Given the description of an element on the screen output the (x, y) to click on. 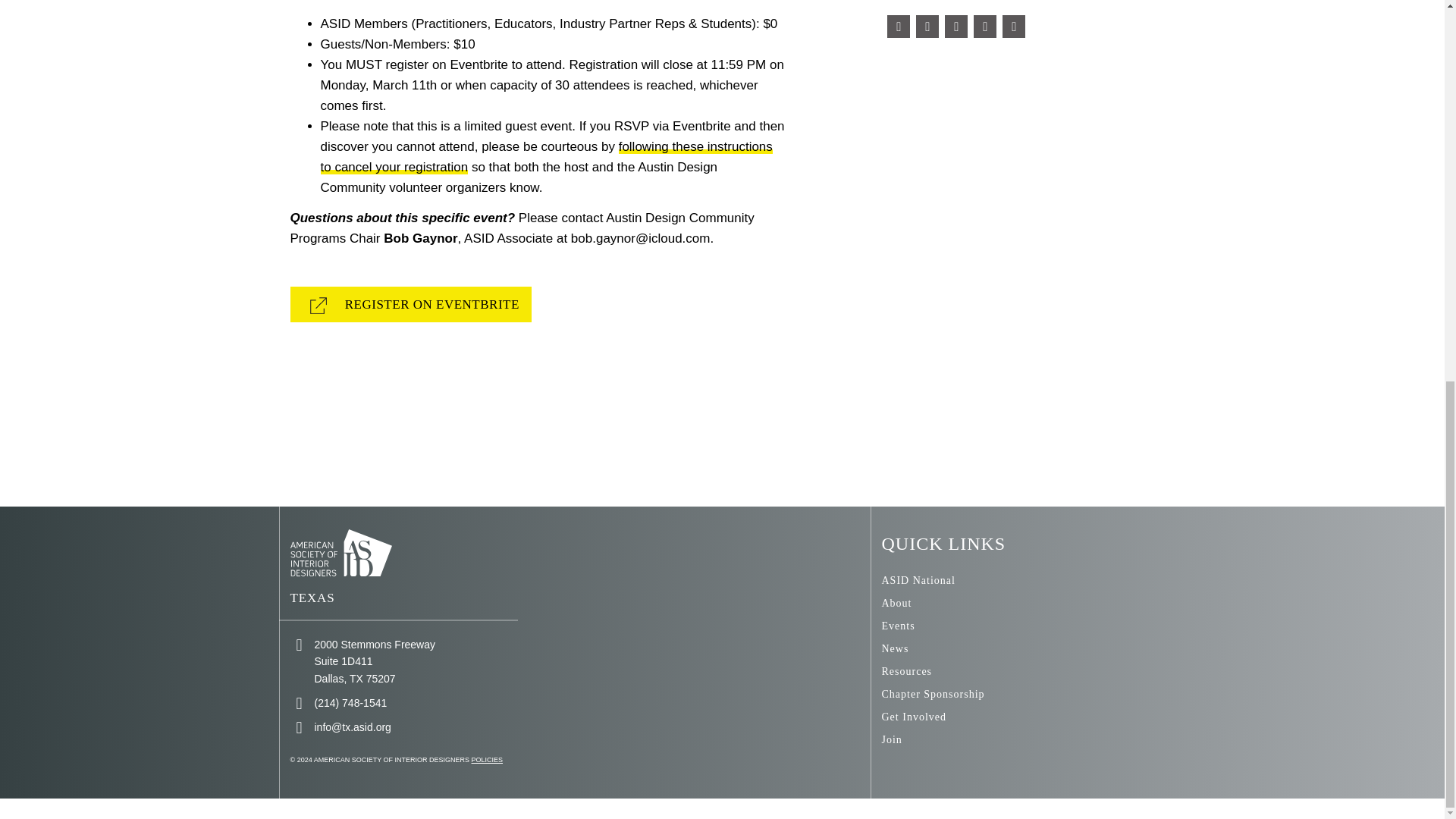
Share on Pinterest (984, 26)
Share via email (1014, 26)
Share on Facebook (898, 26)
Share on LinkedIn (956, 26)
Share on Twitter (927, 26)
